Given the description of an element on the screen output the (x, y) to click on. 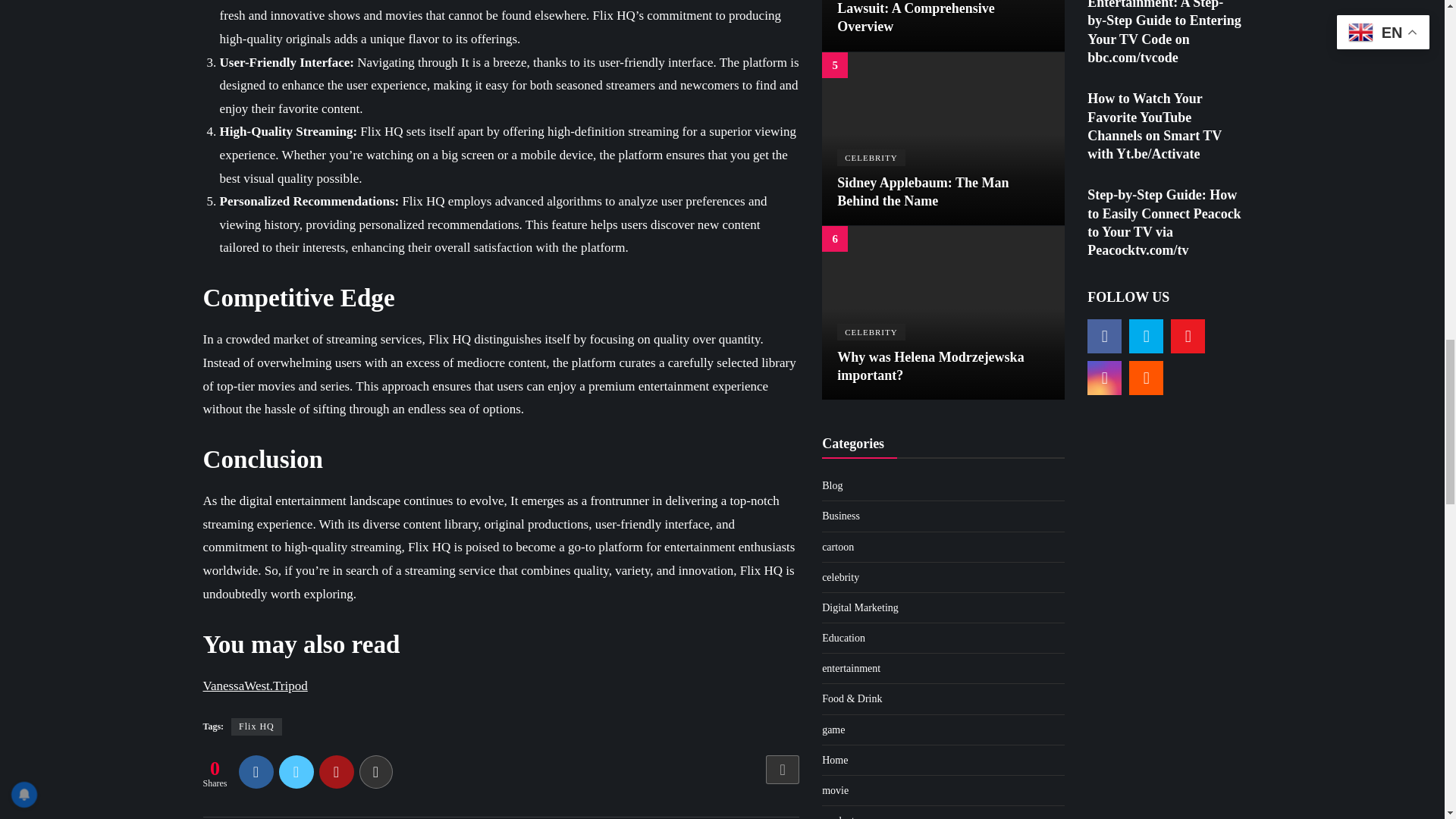
Add Bookmark (782, 769)
